Given the description of an element on the screen output the (x, y) to click on. 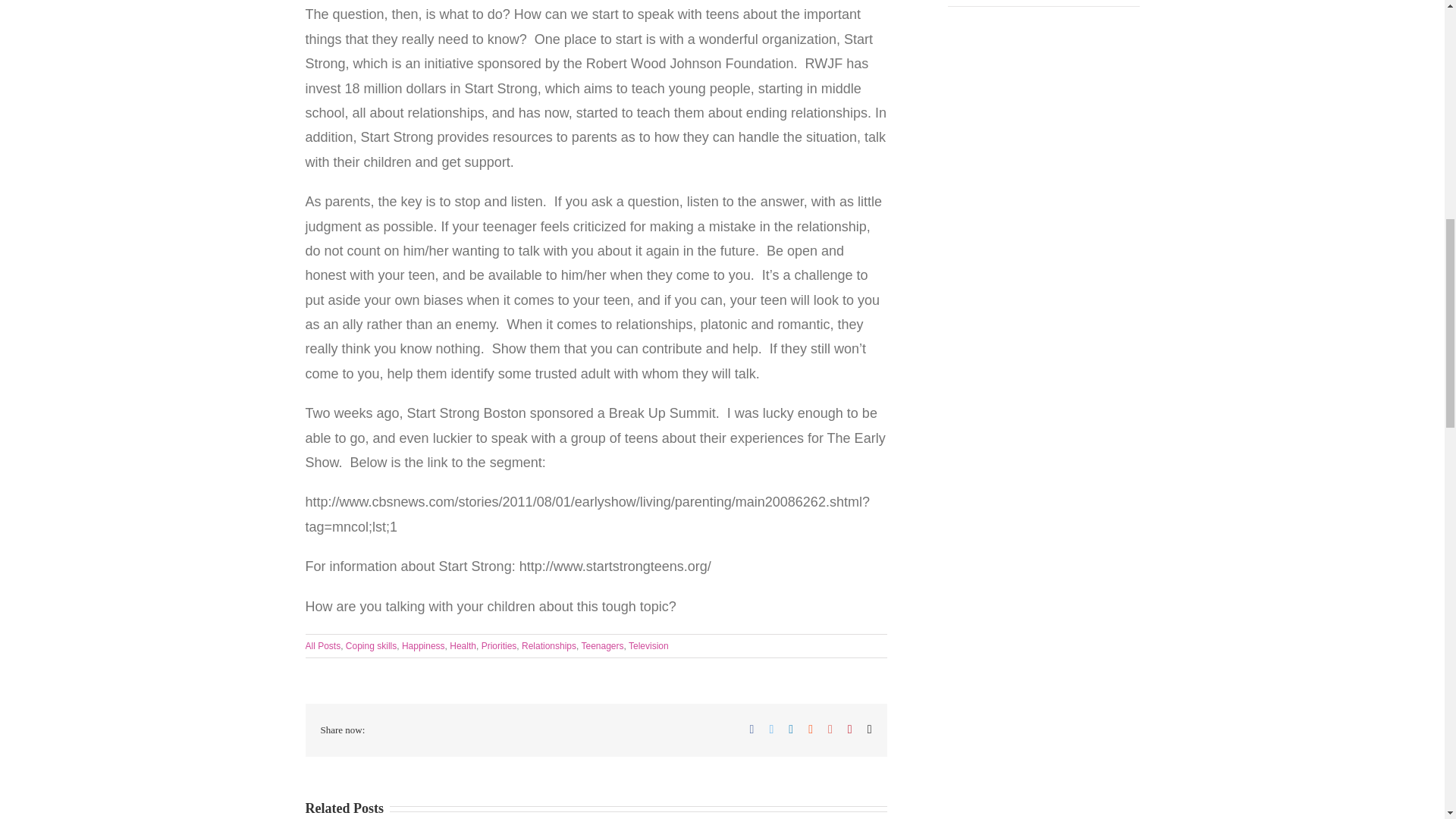
Teenagers (601, 645)
Coping skills (371, 645)
Television (648, 645)
Happiness (423, 645)
Relationships (548, 645)
Priorities (498, 645)
All Posts (322, 645)
Health (462, 645)
